Given the description of an element on the screen output the (x, y) to click on. 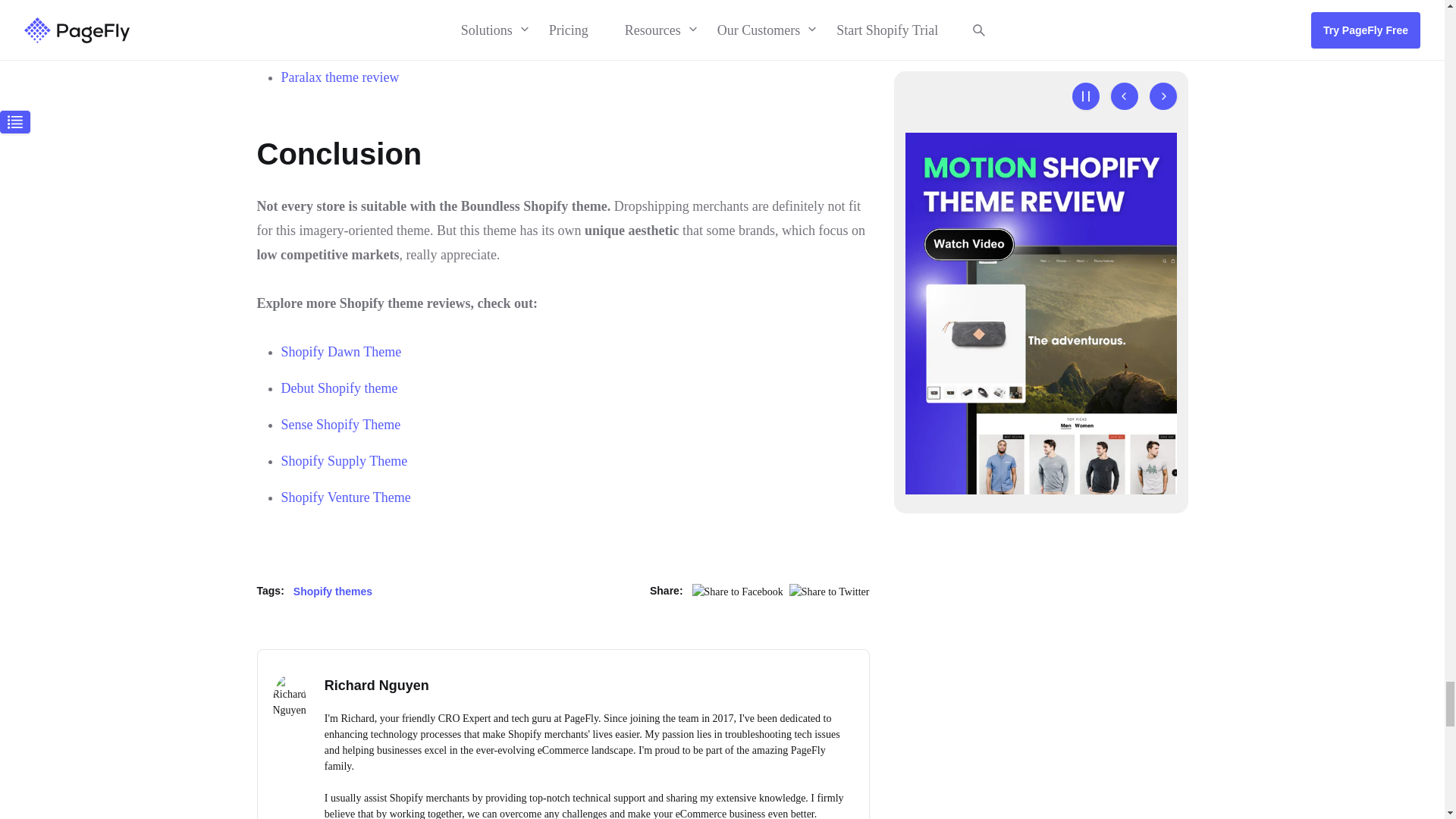
shopify dawn theme (341, 351)
Show articles tagged Shopify themes (333, 591)
sense shopify theme (340, 424)
shopify venture theme (345, 497)
shopify supply theme (344, 460)
shopify debut theme (339, 387)
